Given the description of an element on the screen output the (x, y) to click on. 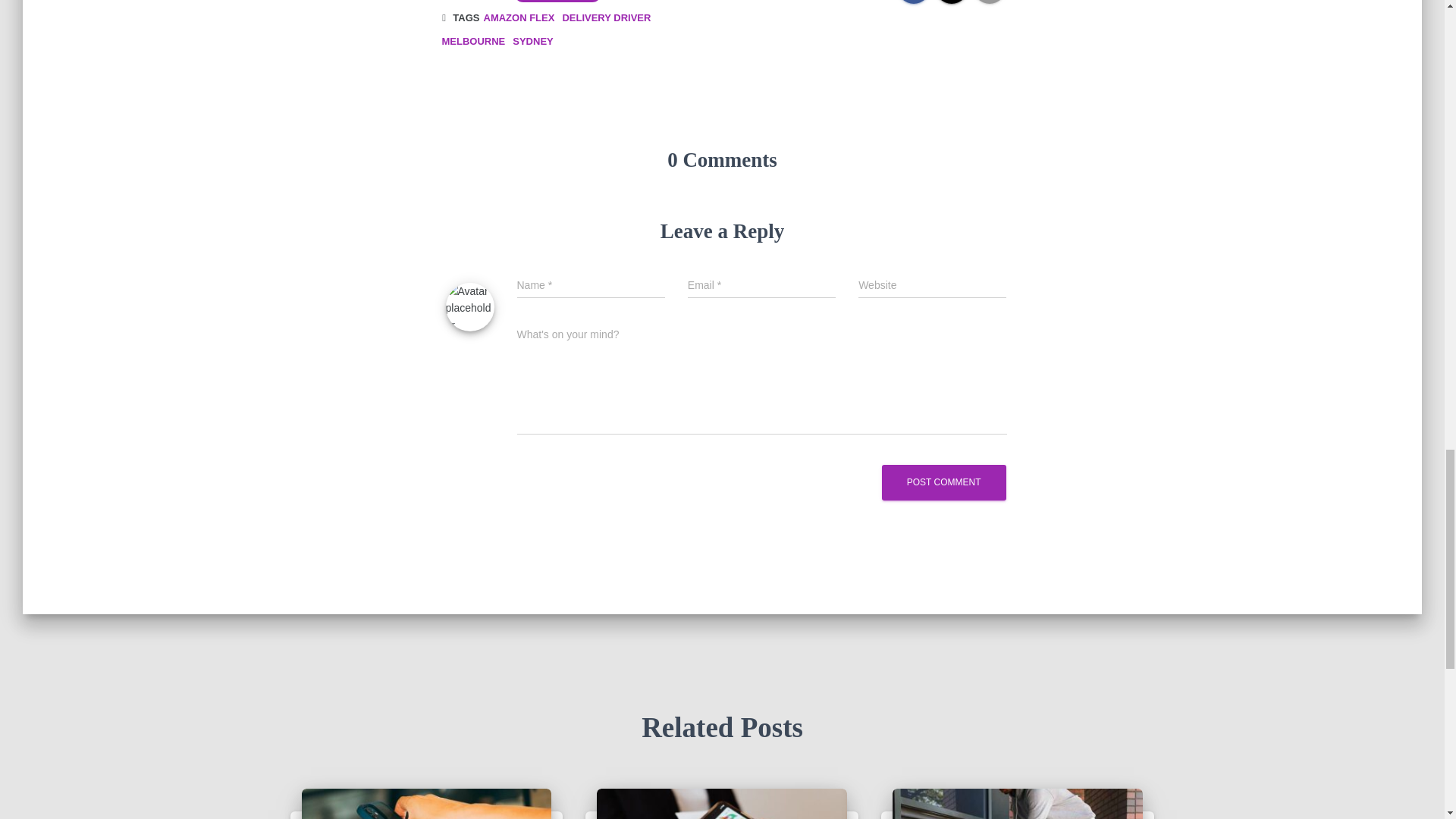
MELBOURNE (473, 41)
SYDNEY (532, 41)
AMAZON FLEX (518, 17)
Post Comment (944, 482)
DELIVERY DRIVER (606, 17)
Post Comment (944, 482)
